Given the description of an element on the screen output the (x, y) to click on. 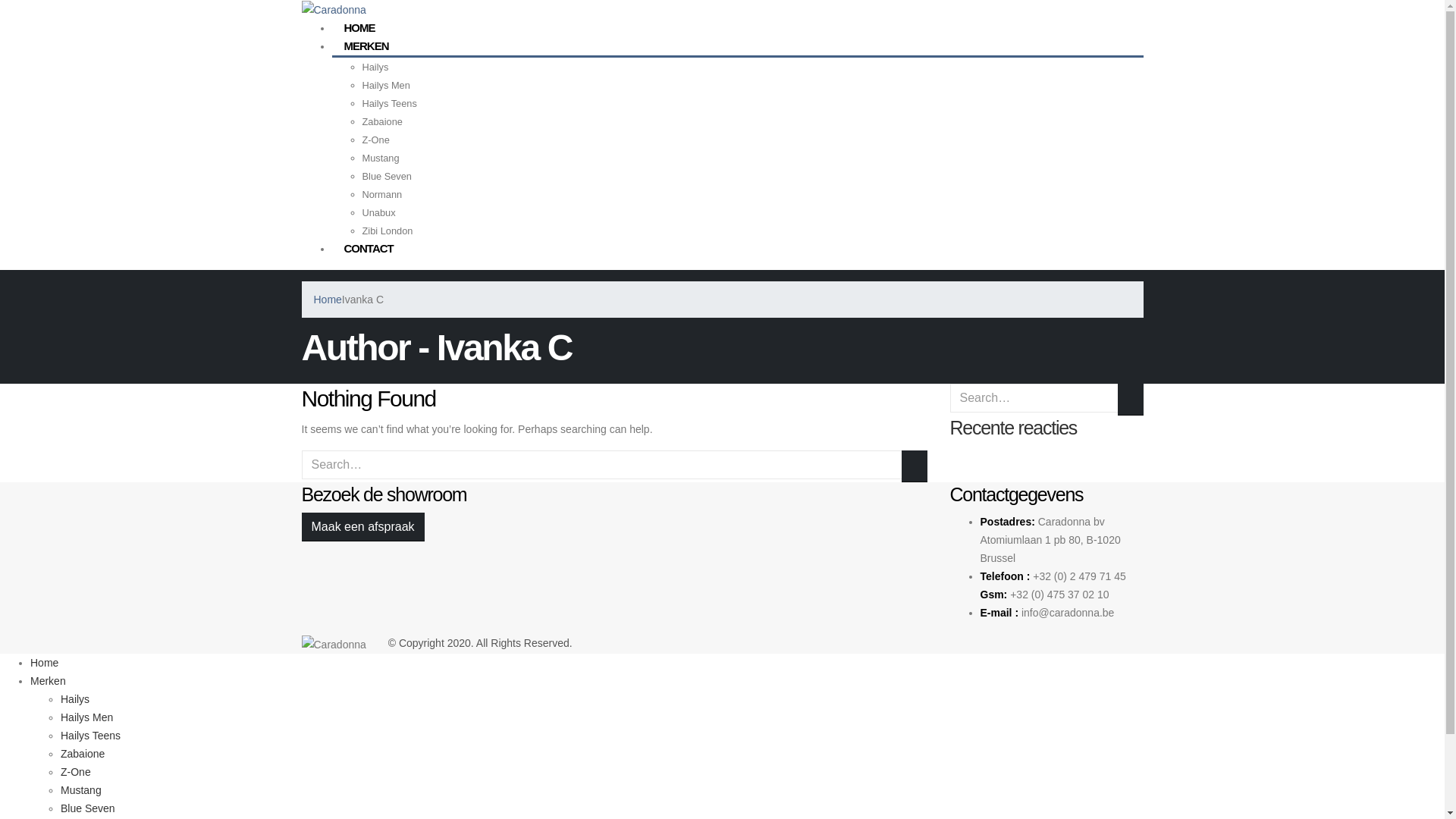
Z-One Element type: text (75, 771)
MERKEN Element type: text (366, 45)
Hailys Element type: text (74, 699)
Zabaione Element type: text (382, 121)
Mustang Element type: text (380, 157)
Unabux Element type: text (378, 212)
CONTACT Element type: text (368, 248)
Zabaione Element type: text (82, 753)
Maak een afspraak Element type: text (362, 526)
Z-One Element type: text (375, 139)
Hailys Teens Element type: text (90, 735)
Home Element type: text (327, 299)
Hailys Men Element type: text (86, 717)
Zibi London Element type: text (387, 230)
Hailys Teens Element type: text (389, 103)
Mustang Element type: text (80, 790)
Blue Seven Element type: text (386, 176)
Merken Element type: text (47, 680)
Blue Seven Element type: text (87, 808)
Hailys Men Element type: text (386, 85)
Caradonna - Fashion agency Element type: hover (335, 643)
info@caradonna.be Element type: text (1067, 612)
Caradonna - Fashion agency Element type: hover (333, 9)
Hailys Element type: text (375, 66)
Normann Element type: text (382, 194)
Home Element type: text (44, 662)
